Given the description of an element on the screen output the (x, y) to click on. 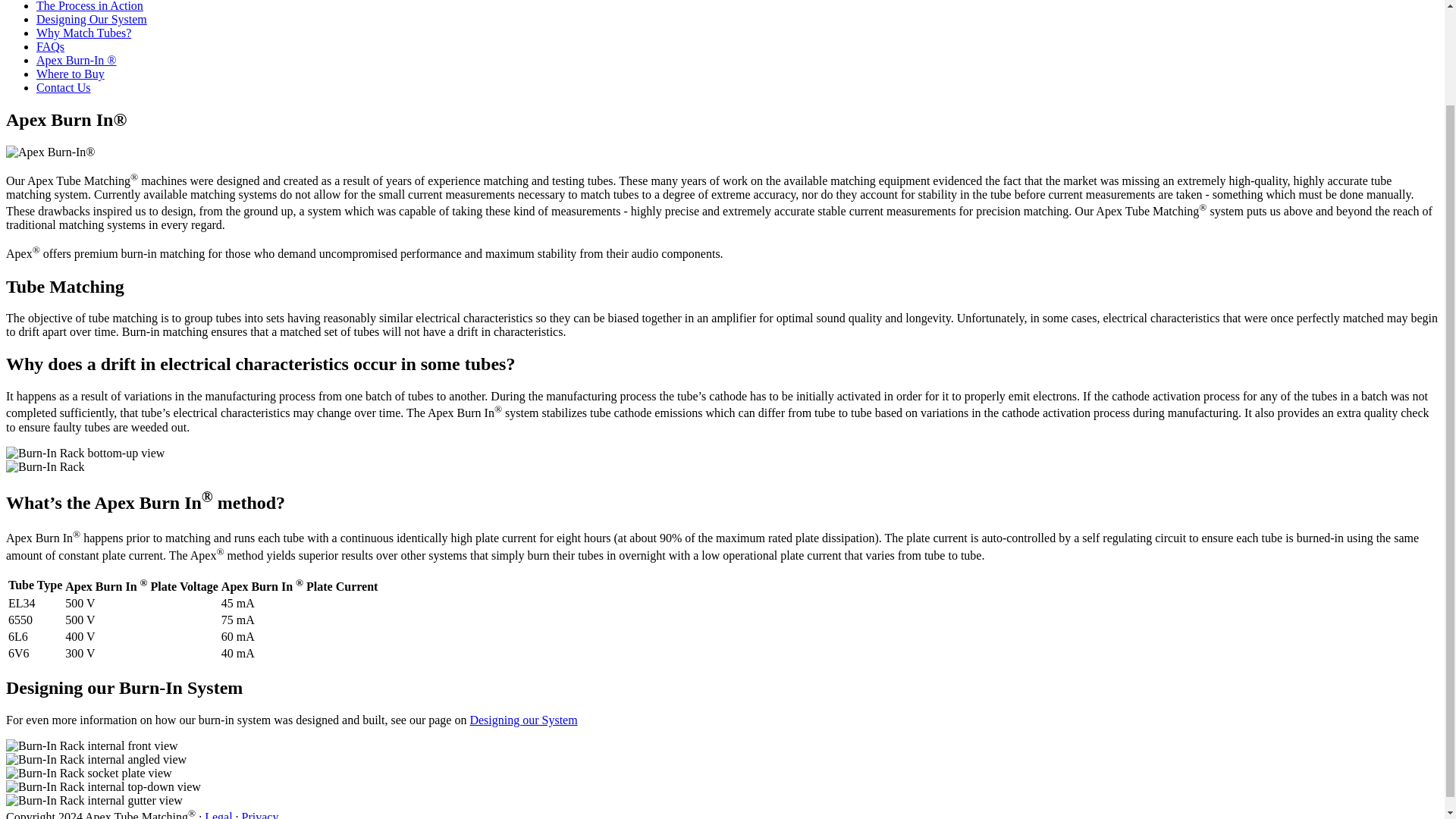
Burn-In Rack socket plate view (88, 773)
Burn-In Rack internal front view (91, 745)
FAQs (50, 46)
Burn-In Rack internal angled view (95, 759)
Burn-In Rack internal gutter view (94, 800)
The Process in Action (89, 6)
Why Match Tubes? (83, 32)
Designing Our System (91, 19)
Contact Us (63, 87)
Burn-In Rack bottom-up view (84, 453)
